Given the description of an element on the screen output the (x, y) to click on. 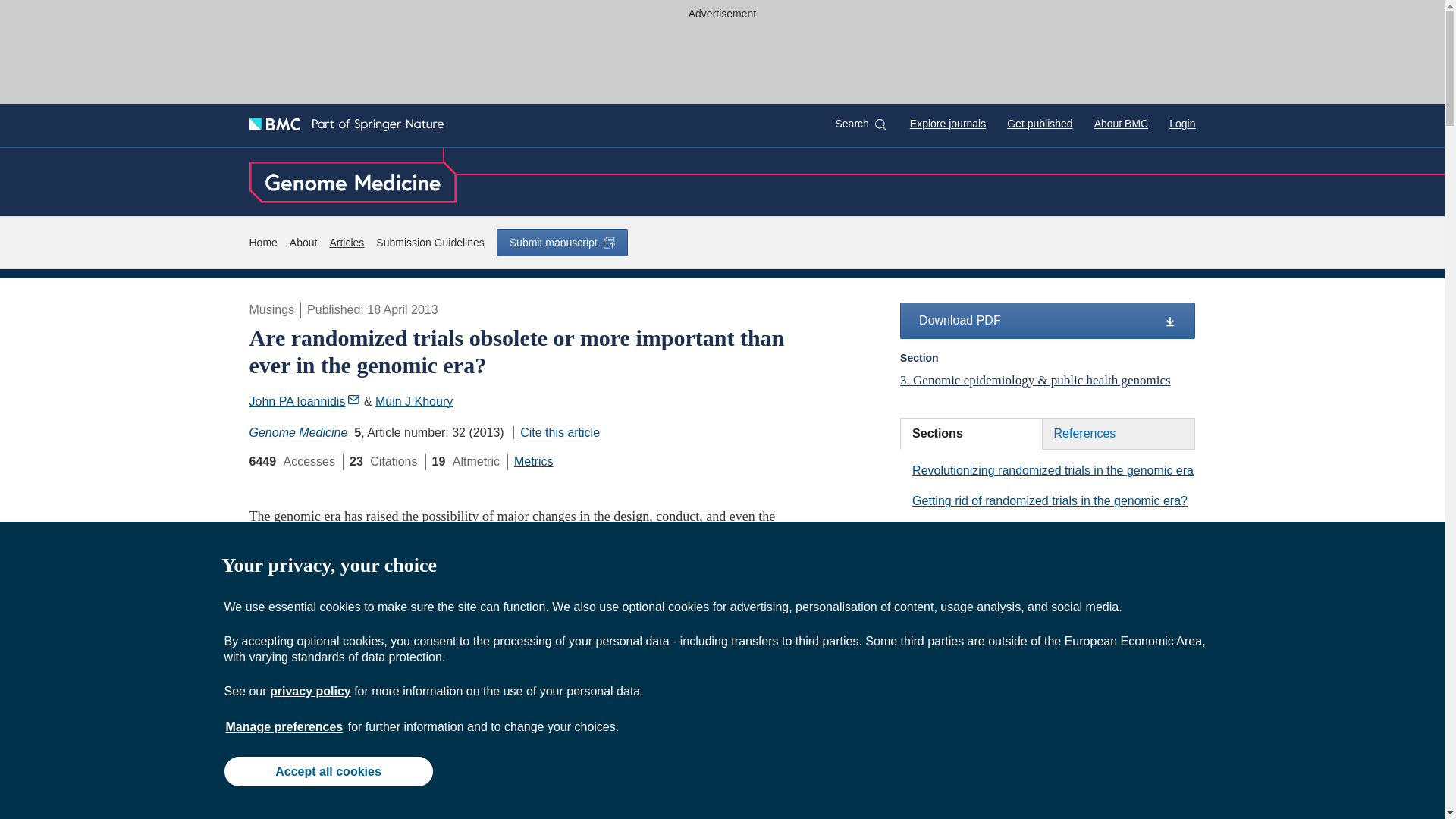
Manage preferences (284, 726)
Submission Guidelines (429, 242)
Articles (346, 242)
Metrics (533, 461)
Explore journals (947, 123)
Home (262, 242)
Submit manuscript (561, 242)
Get published (1039, 123)
Genome Medicine (297, 431)
